Given the description of an element on the screen output the (x, y) to click on. 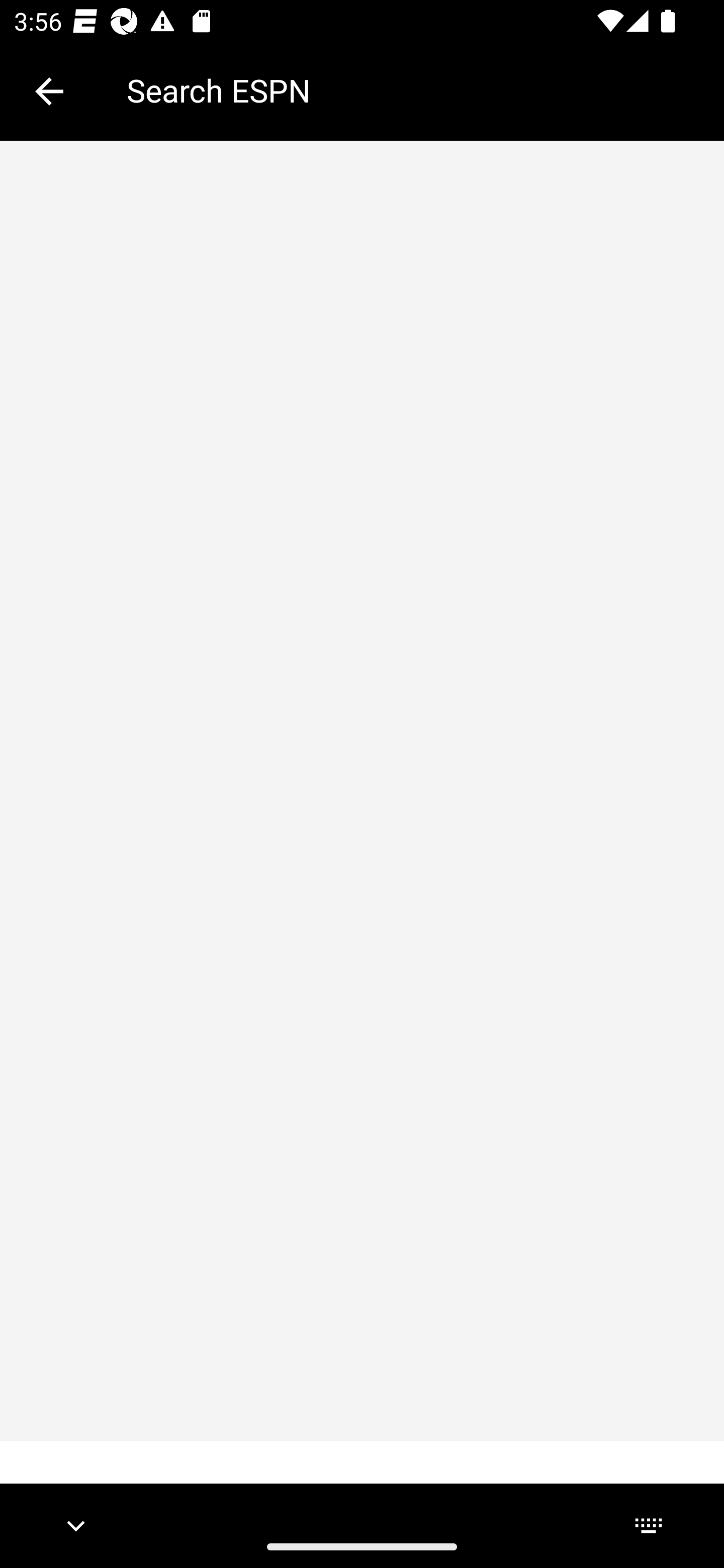
Collapse (49, 91)
Search ESPN (411, 90)
